Given the description of an element on the screen output the (x, y) to click on. 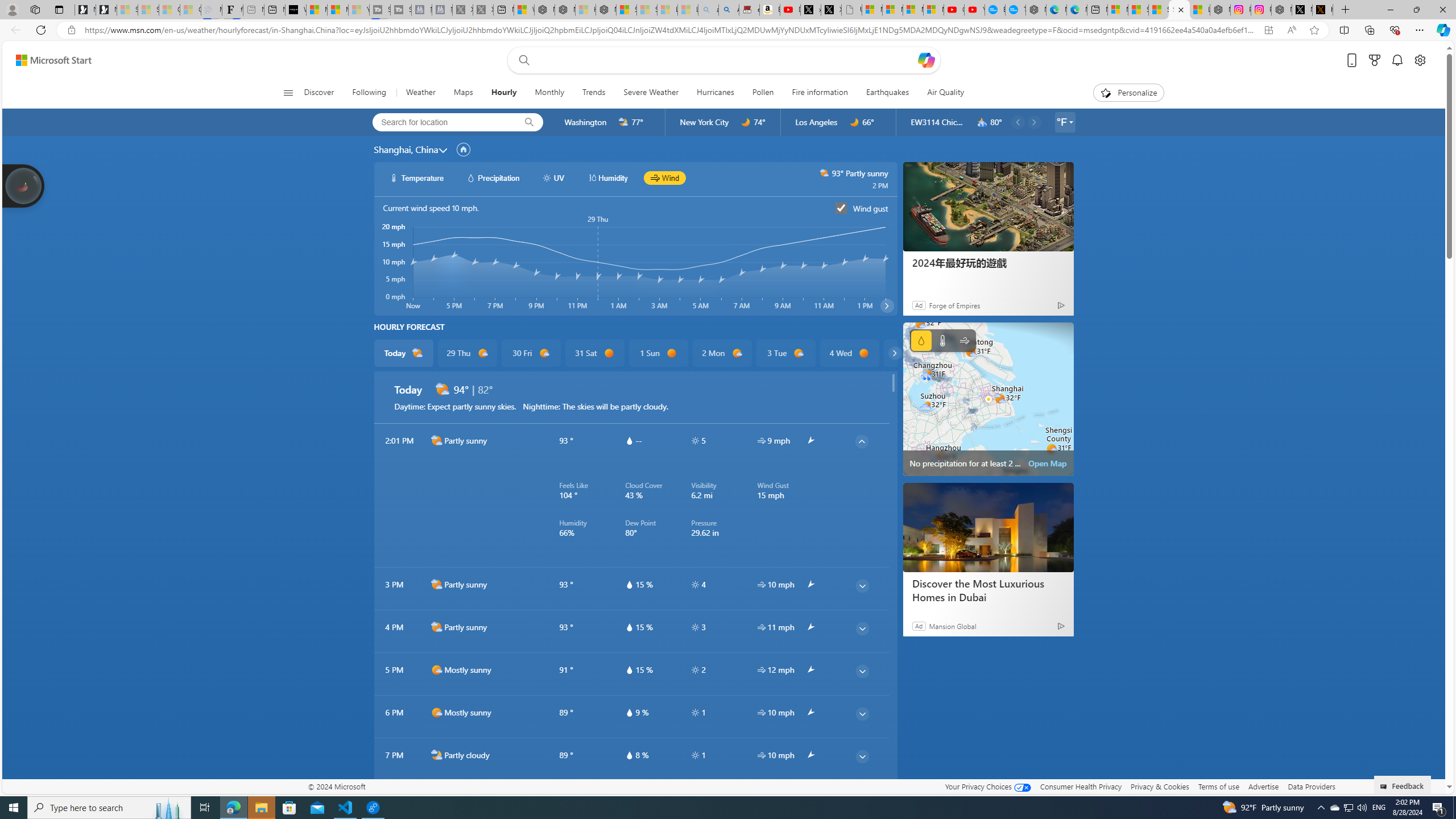
Data Providers (1311, 785)
Fire information (820, 92)
hourlyChart/uvWhite (546, 177)
n3200 (981, 121)
Personalize (1128, 92)
locationName/setHomeLocation (462, 149)
locationBar/search (529, 121)
hourlyTable/wind (761, 755)
common/thinArrow (861, 798)
Skip to footer (46, 59)
